Given the description of an element on the screen output the (x, y) to click on. 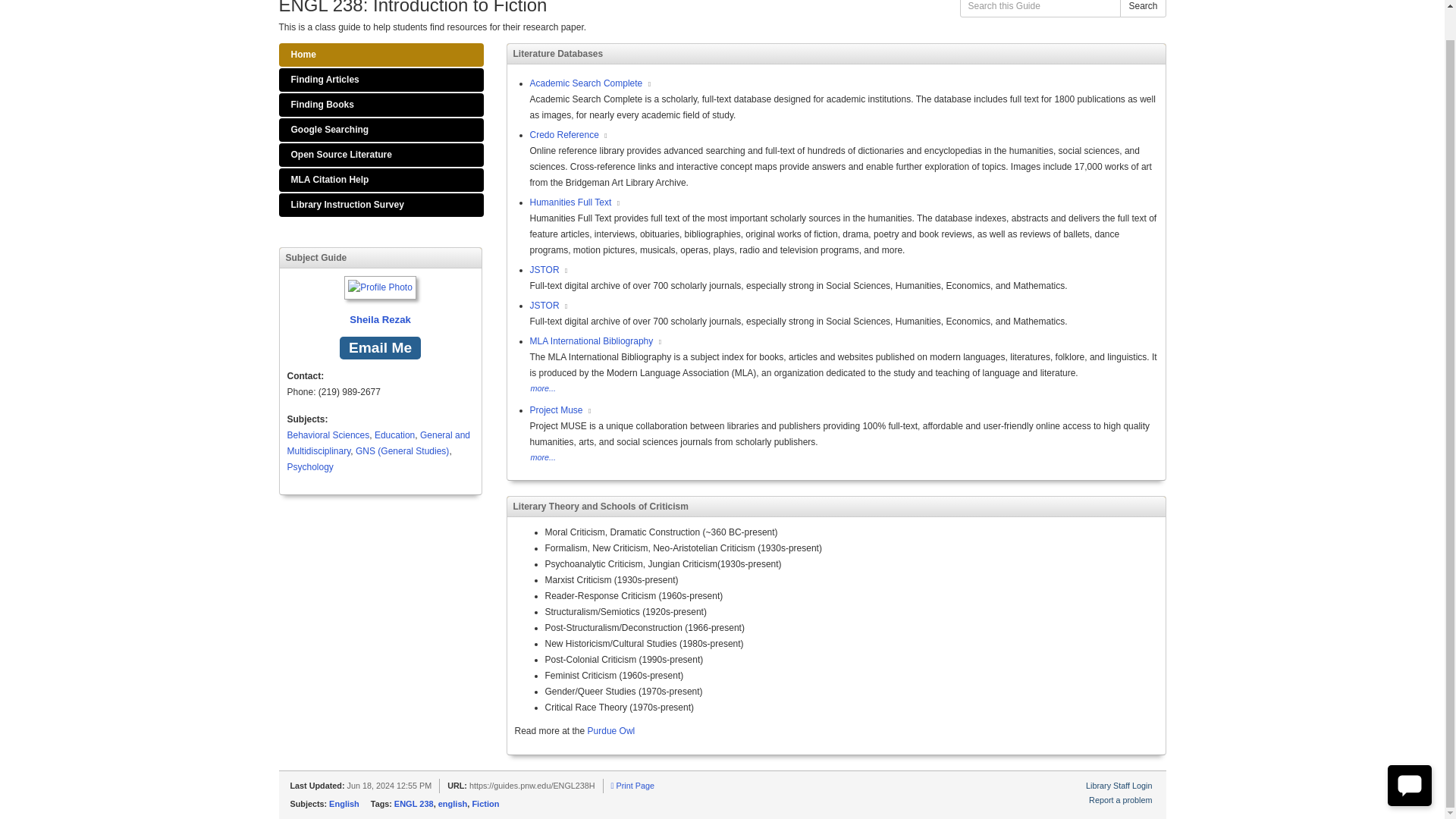
MLA Citation Help (381, 179)
This link opens in a new window (566, 306)
Fiction (485, 803)
JSTOR (544, 269)
This link opens in a new window (566, 270)
Search (1142, 8)
Behavioral Sciences (327, 434)
Finding Articles (381, 79)
Library Instruction Survey (381, 205)
Report a problem (1120, 799)
